Given the description of an element on the screen output the (x, y) to click on. 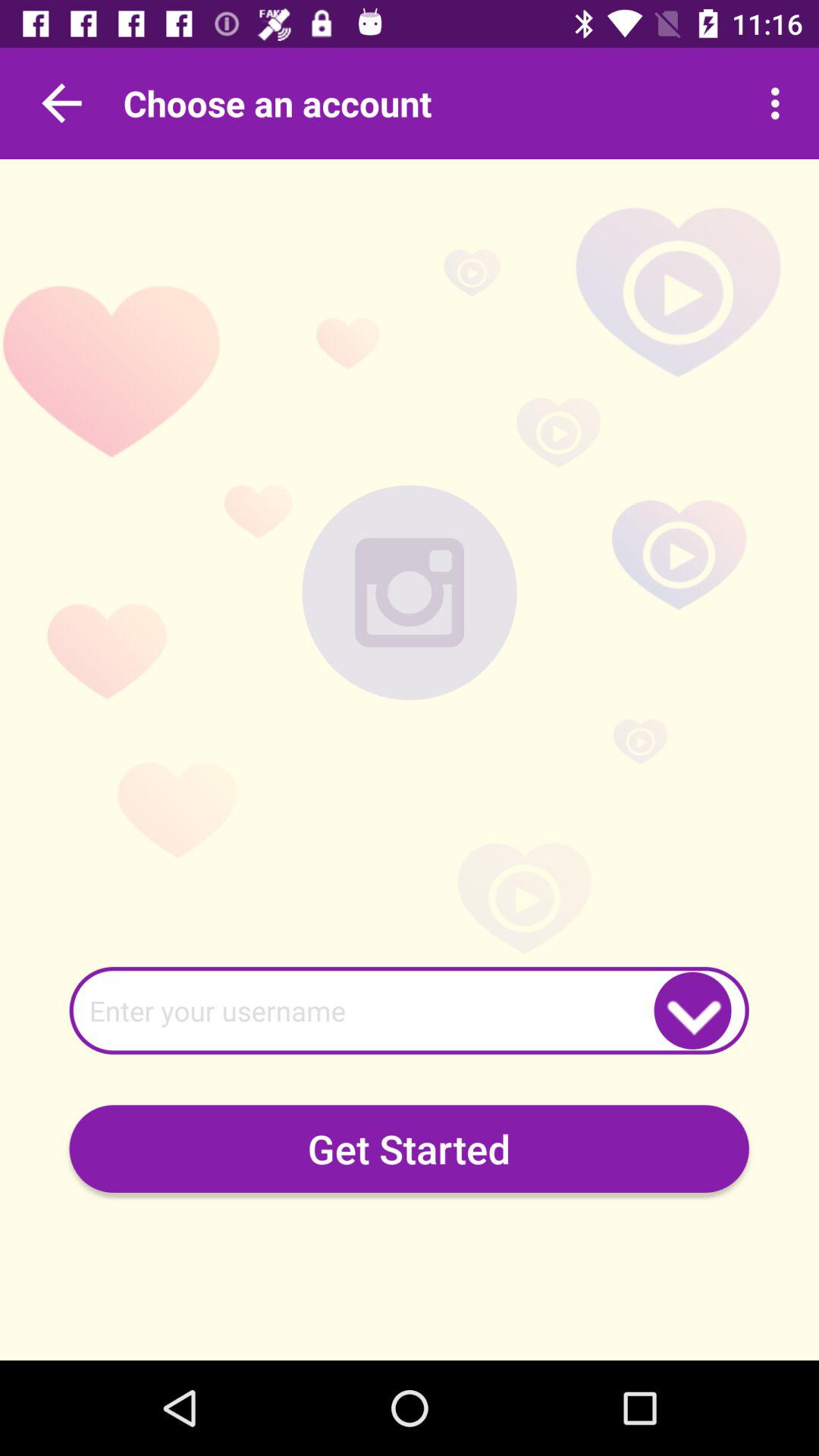
goback (61, 103)
